Given the description of an element on the screen output the (x, y) to click on. 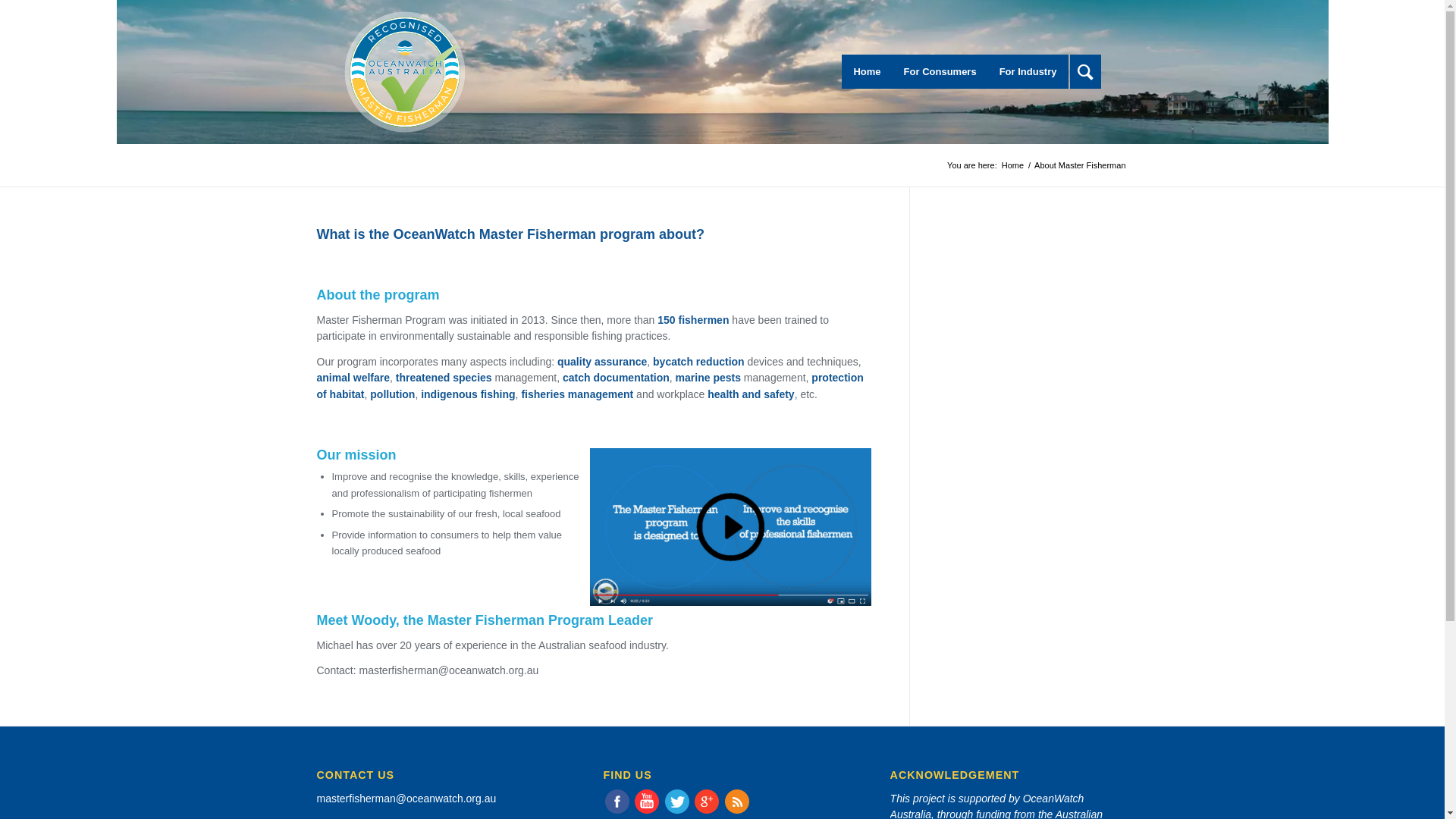
Twitter Element type: hover (677, 801)
Home Element type: text (1012, 165)
OceanWatchMasterFishermanLogo Element type: hover (404, 69)
Twitter Element type: hover (676, 811)
youtube Element type: hover (646, 811)
Gplus Element type: hover (706, 811)
Faebook  Element type: hover (617, 801)
masterfisherman@oceanwatch.org.au Element type: text (406, 798)
Rss Element type: hover (736, 801)
Faebook  Element type: hover (616, 811)
Gplus Element type: hover (706, 801)
youtube Element type: hover (646, 801)
Rss Element type: hover (736, 811)
